Given the description of an element on the screen output the (x, y) to click on. 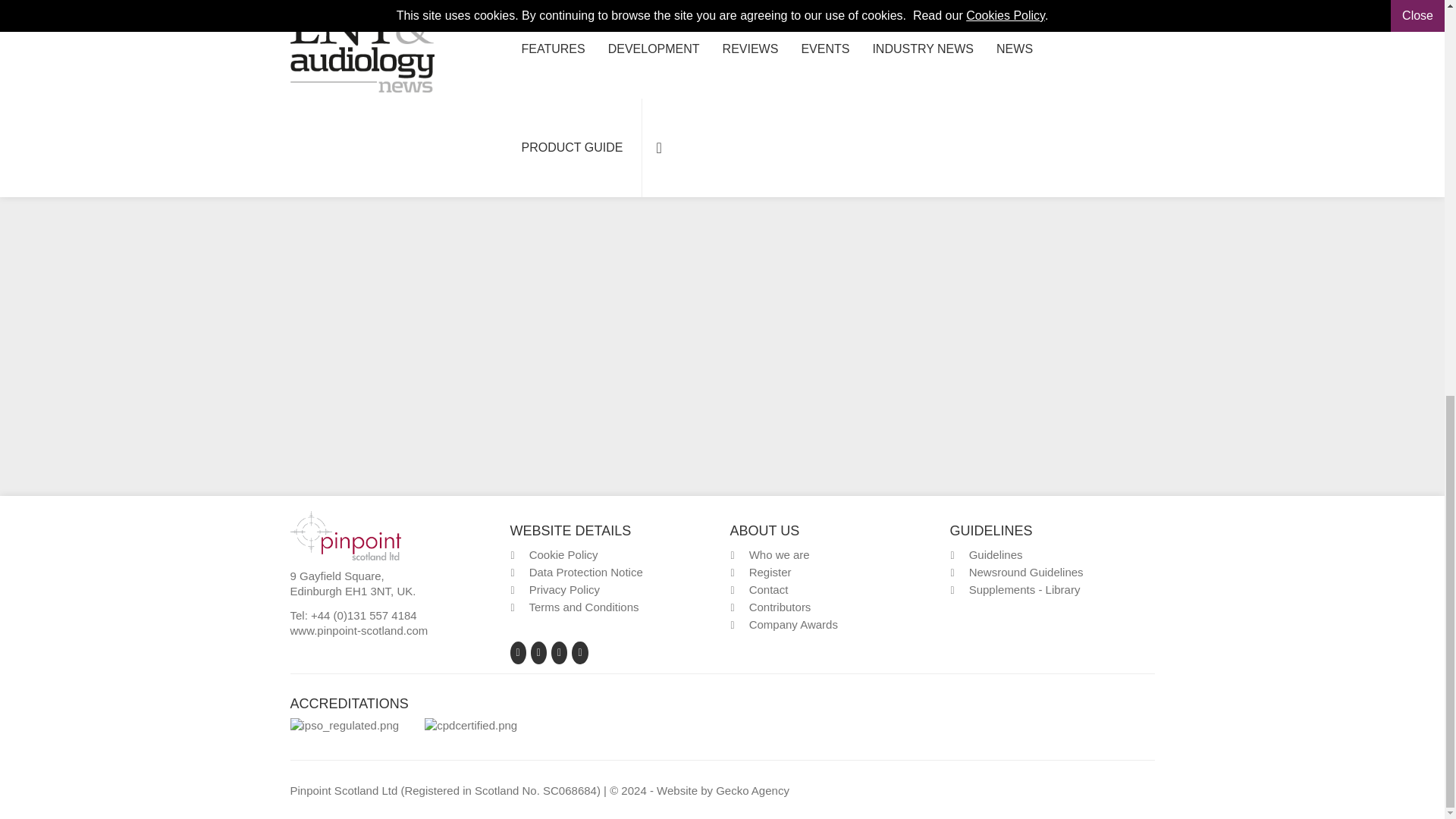
Website by Gecko Agency (752, 789)
On Reddit (376, 83)
On Twitter (336, 83)
On Facebook (315, 83)
On LinkedIn (357, 83)
